Given the description of an element on the screen output the (x, y) to click on. 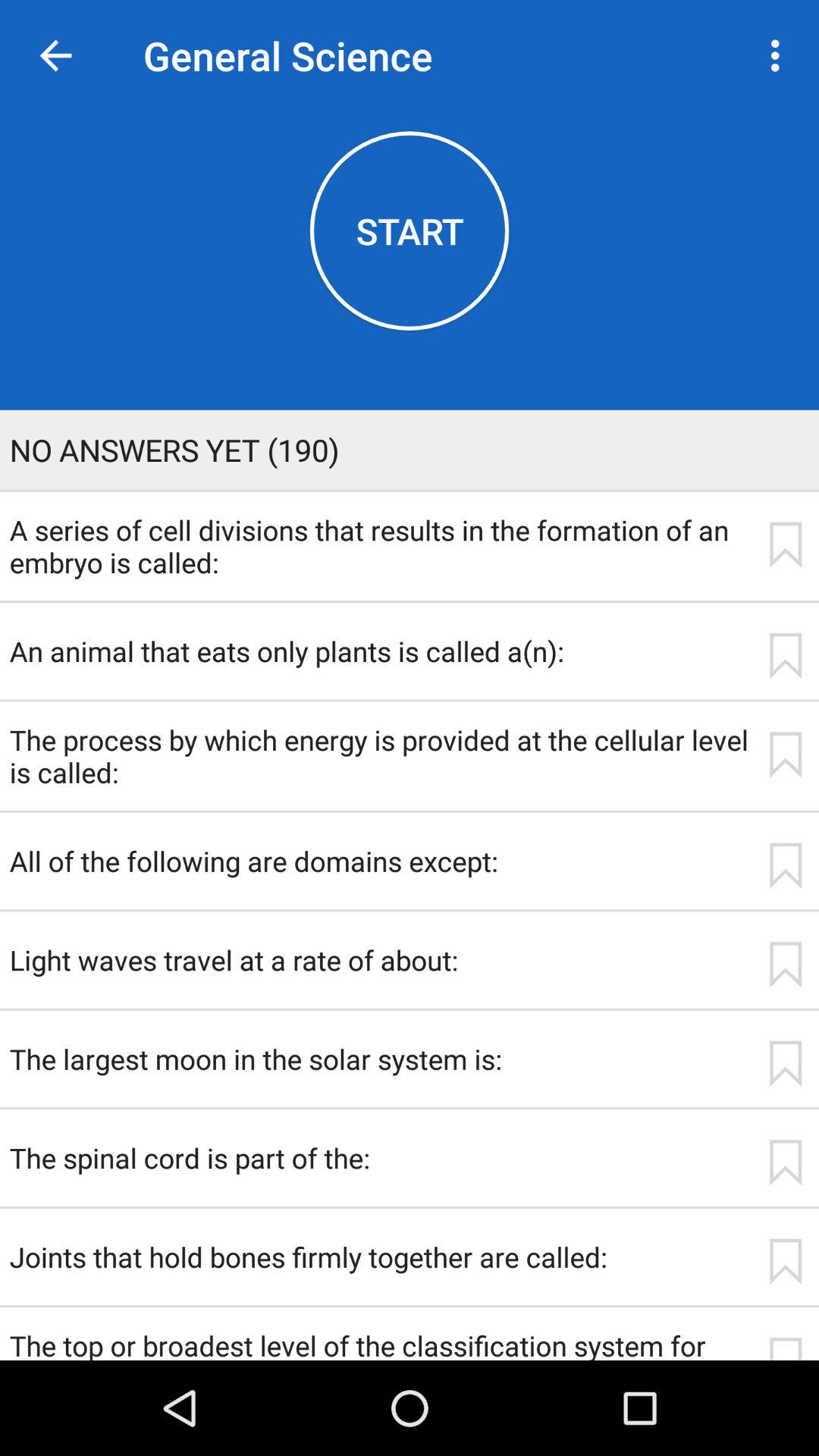
click the item next to the the spinal cord icon (784, 1162)
